Given the description of an element on the screen output the (x, y) to click on. 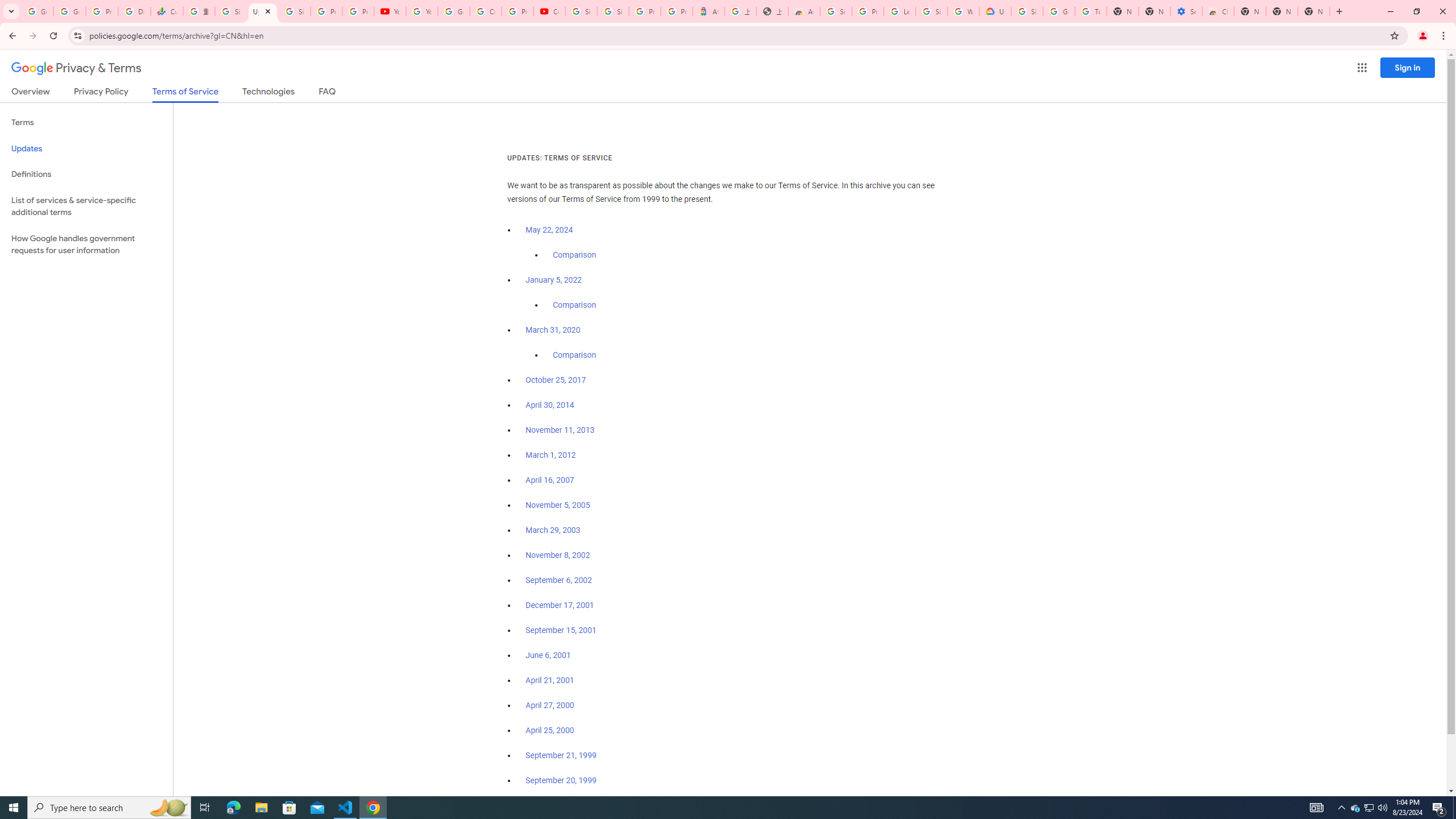
January 5, 2022 (553, 280)
New Tab (1313, 11)
Chrome Web Store - Accessibility extensions (1217, 11)
March 29, 2003 (552, 530)
Currencies - Google Finance (166, 11)
Settings - Accessibility (1185, 11)
Sign in - Google Accounts (1027, 11)
